Given the description of an element on the screen output the (x, y) to click on. 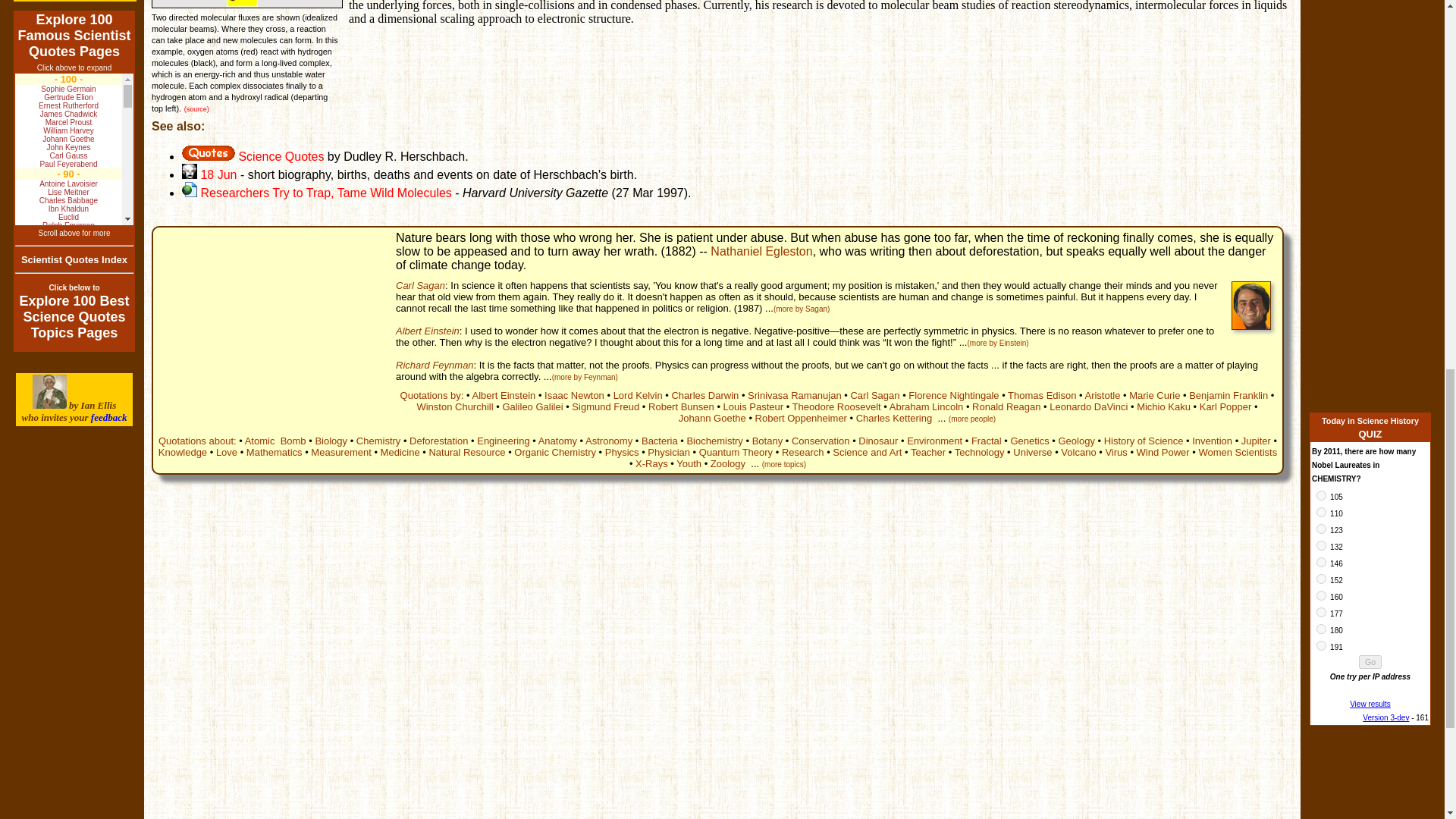
Quotations by: (432, 395)
Richard Feynman (435, 365)
Albert Einstein (503, 395)
Albert Einstein (428, 330)
Lord Kelvin (637, 395)
Nathaniel Egleston (761, 250)
18 Jun (208, 174)
Isaac Newton (574, 395)
Carl Sagan (420, 285)
Researchers Try to Trap, Tame Wild Molecules (325, 192)
Science Quotes (252, 155)
